Given the description of an element on the screen output the (x, y) to click on. 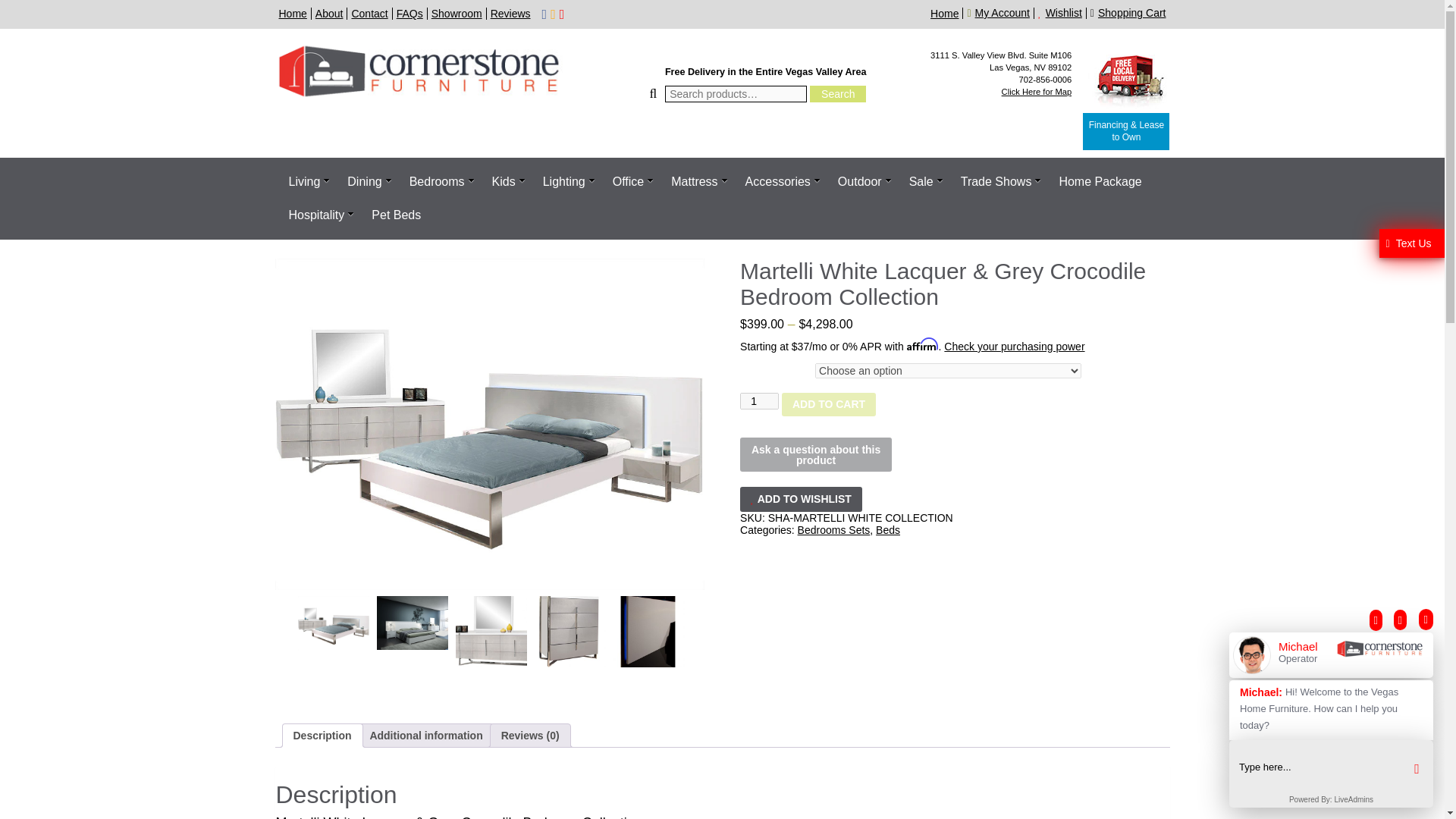
MARTELLI WHITE (332, 623)
My Account (1000, 12)
1 (758, 401)
Search (837, 93)
MARTELLIWHT2 (489, 631)
Showroom (455, 13)
Ask a question about this product (815, 454)
MARTELLIWHT4 (648, 631)
Home (293, 13)
MARTELLIWHT3 (569, 631)
Living (304, 182)
About (329, 13)
Wishlist (1061, 12)
FAQs (409, 13)
